Given the description of an element on the screen output the (x, y) to click on. 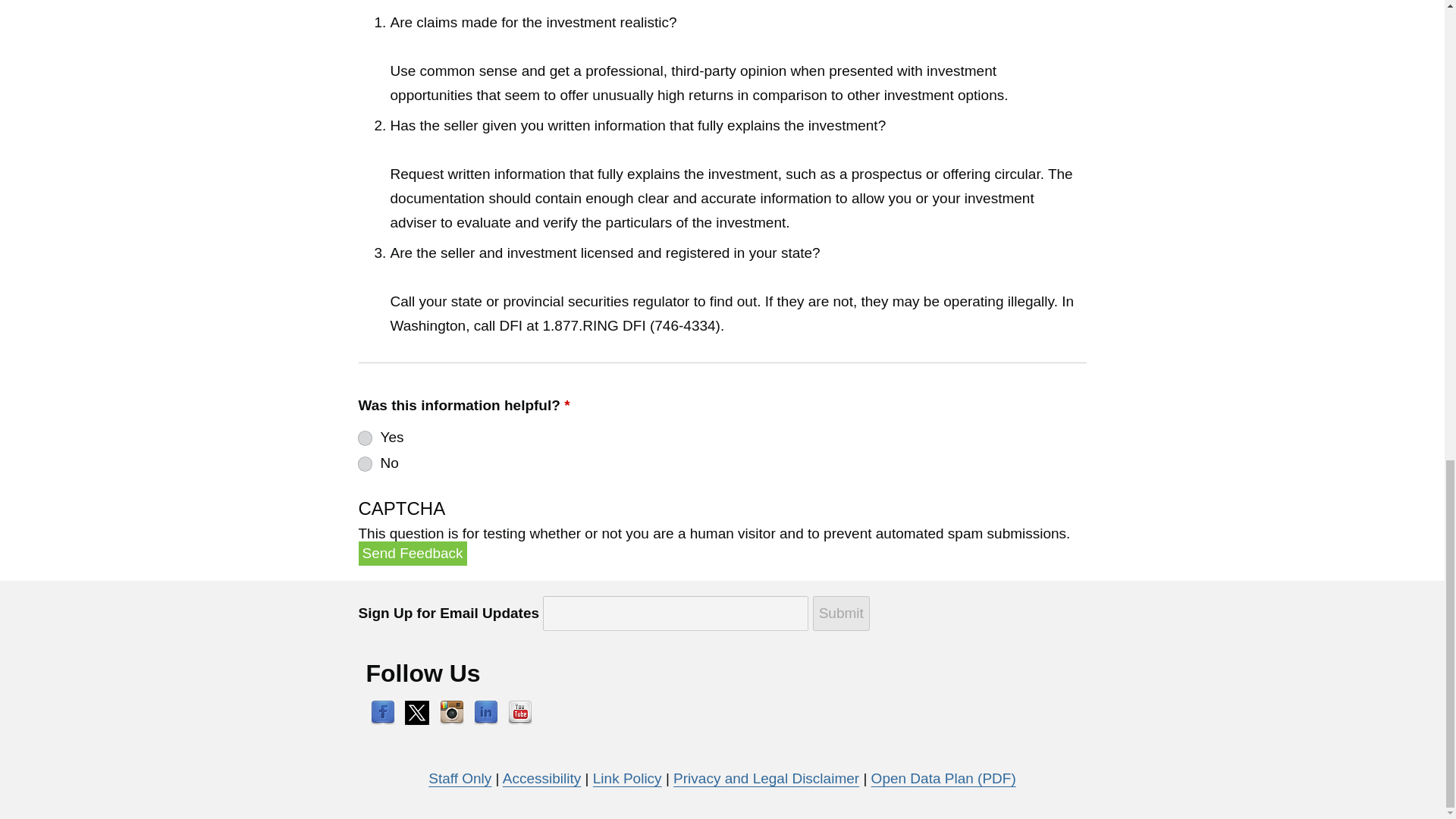
Privacy and Legal Disclaimer (765, 778)
Submit (840, 613)
LinkedIn (485, 711)
Send Feedback (411, 553)
Staff Only (460, 778)
Accessibility (541, 778)
Link Policy (627, 778)
Instagram (451, 711)
Open Data Plan (943, 778)
Twitter (416, 711)
Facebook (382, 711)
Send Feedback (411, 553)
Submit (840, 613)
